Given the description of an element on the screen output the (x, y) to click on. 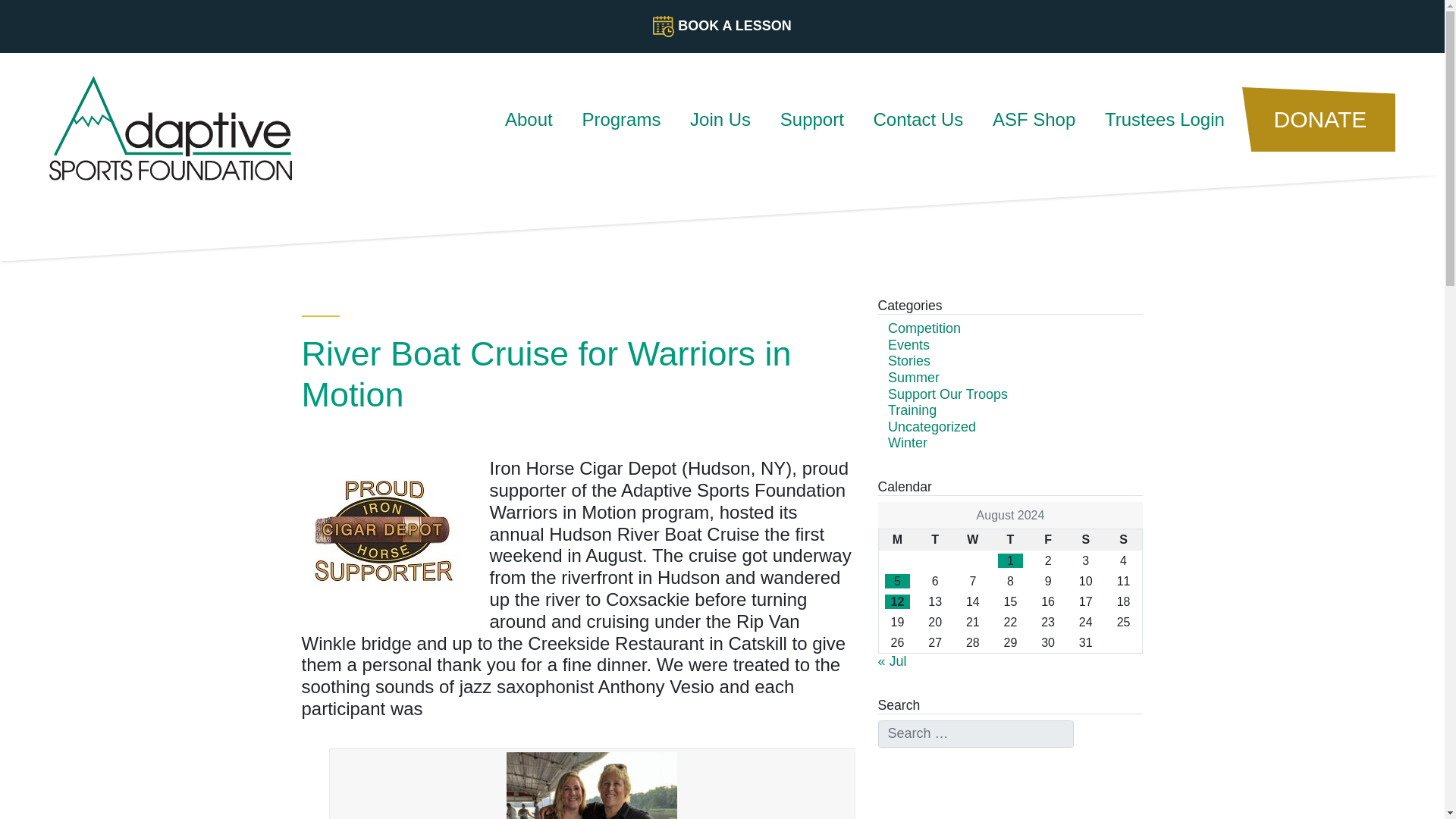
Sunday (1123, 539)
Wednesday (972, 539)
Adaptive Sports Foundation (170, 128)
Join Us (720, 119)
ASF Shop (1033, 119)
About (528, 119)
Support (812, 119)
Adaptive Sports Foundation (151, 114)
Saturday (1086, 539)
Thursday (1010, 539)
